Given the description of an element on the screen output the (x, y) to click on. 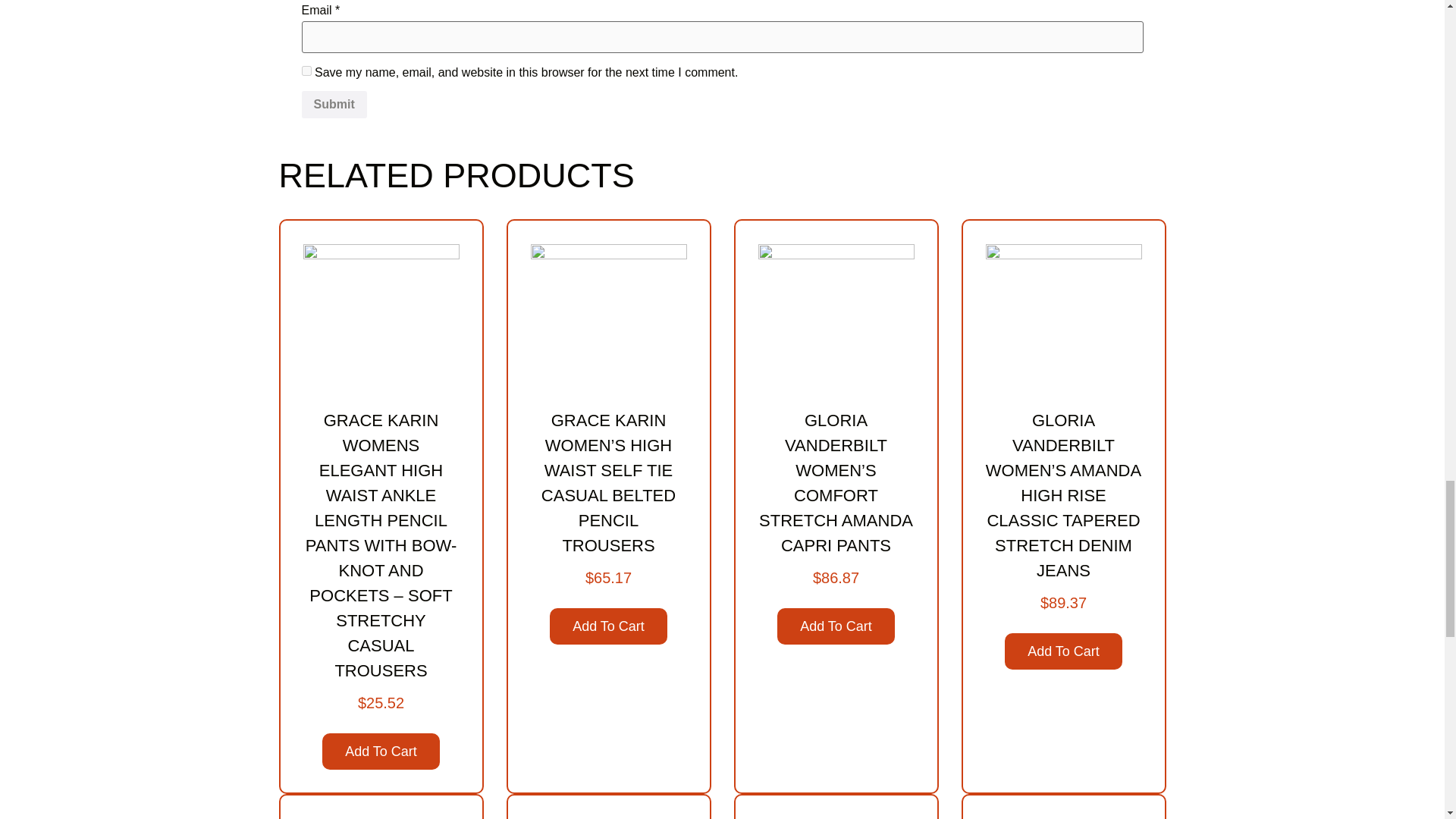
Add To Cart (380, 751)
Submit (333, 103)
yes (306, 71)
Submit (333, 103)
